Given the description of an element on the screen output the (x, y) to click on. 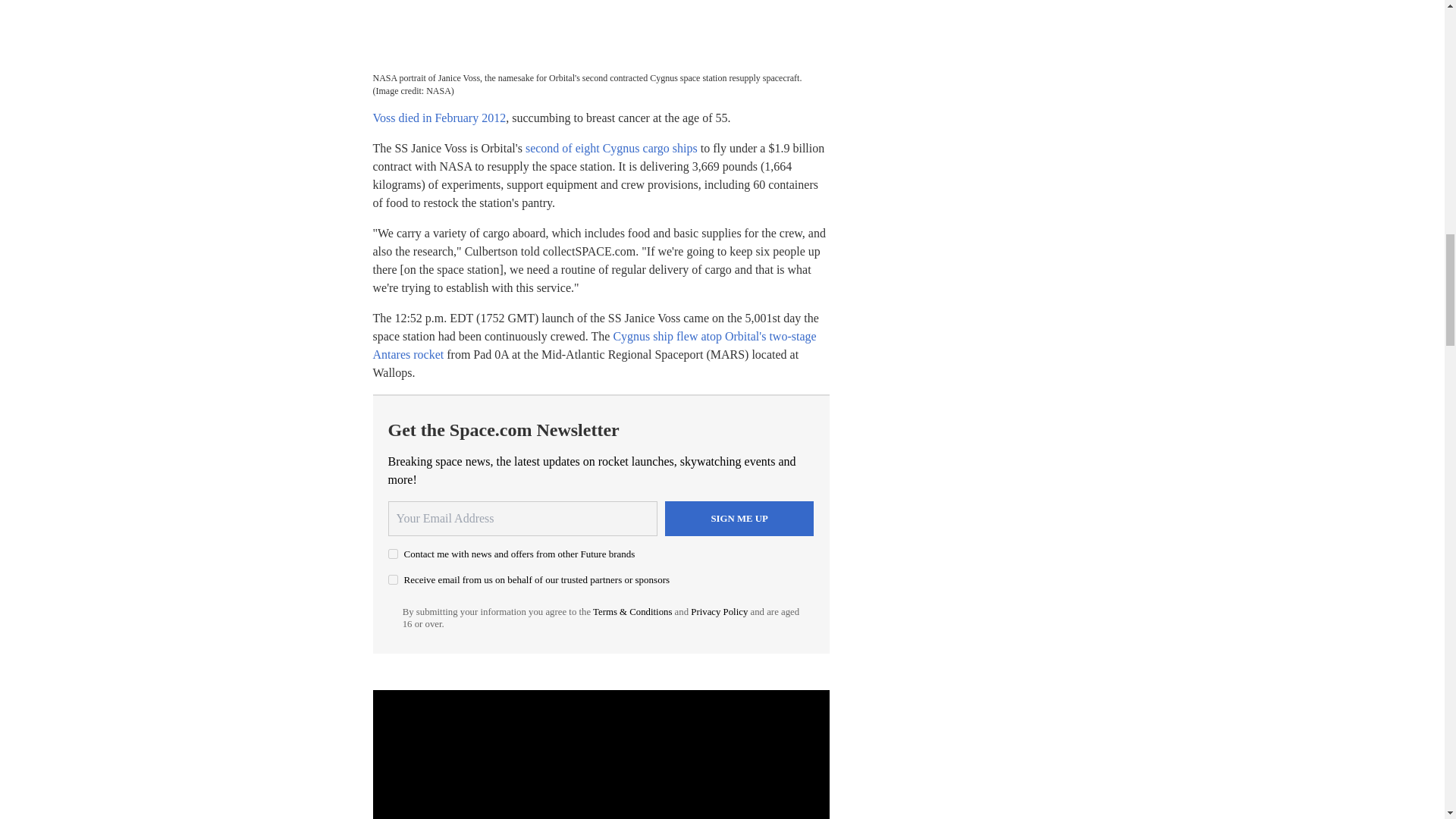
on (392, 553)
on (392, 579)
Sign me up (739, 518)
